Given the description of an element on the screen output the (x, y) to click on. 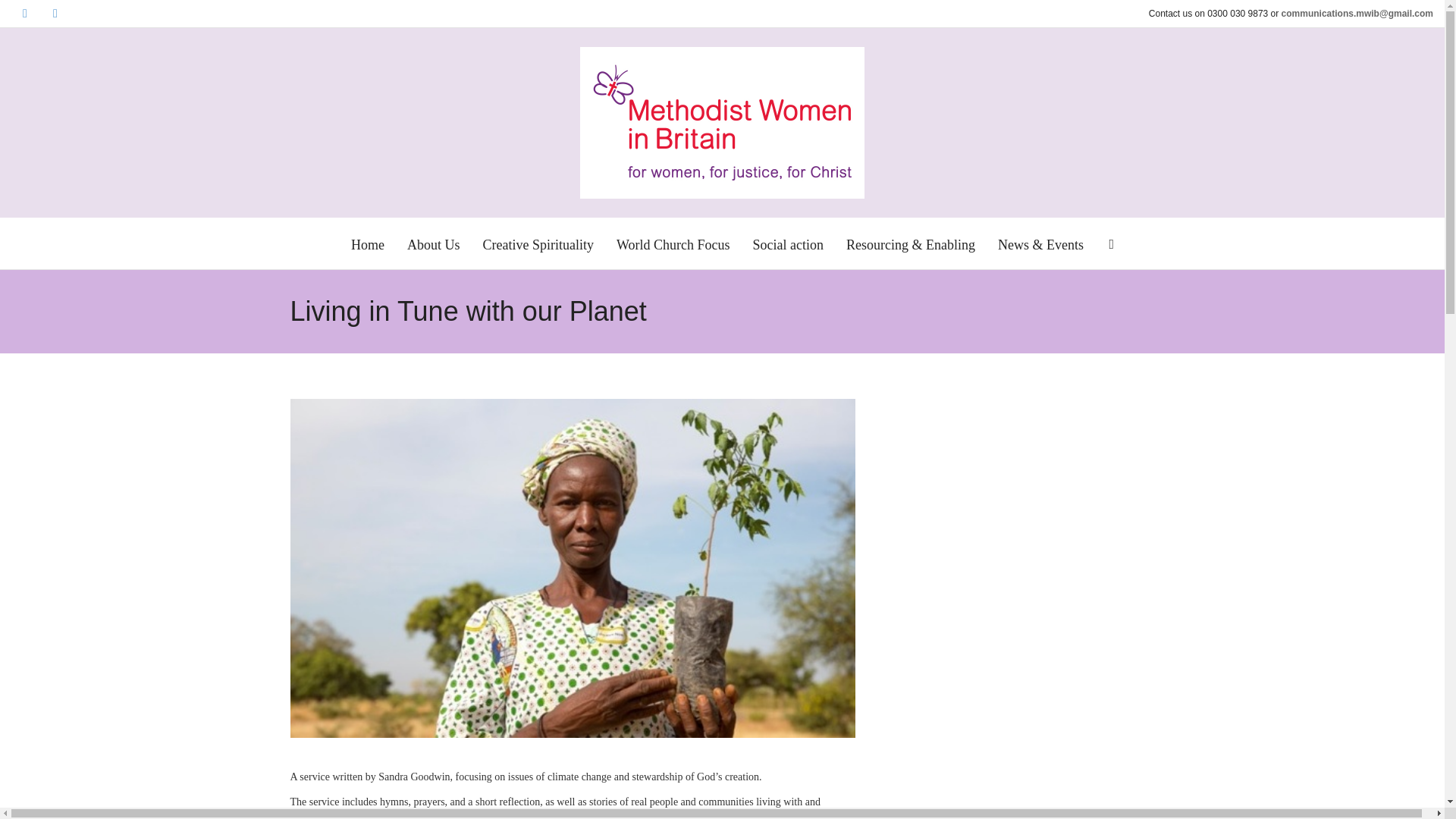
Home (367, 244)
Creative Spirituality (537, 244)
Social action (787, 244)
World Church Focus (673, 244)
About Us (433, 244)
